Given the description of an element on the screen output the (x, y) to click on. 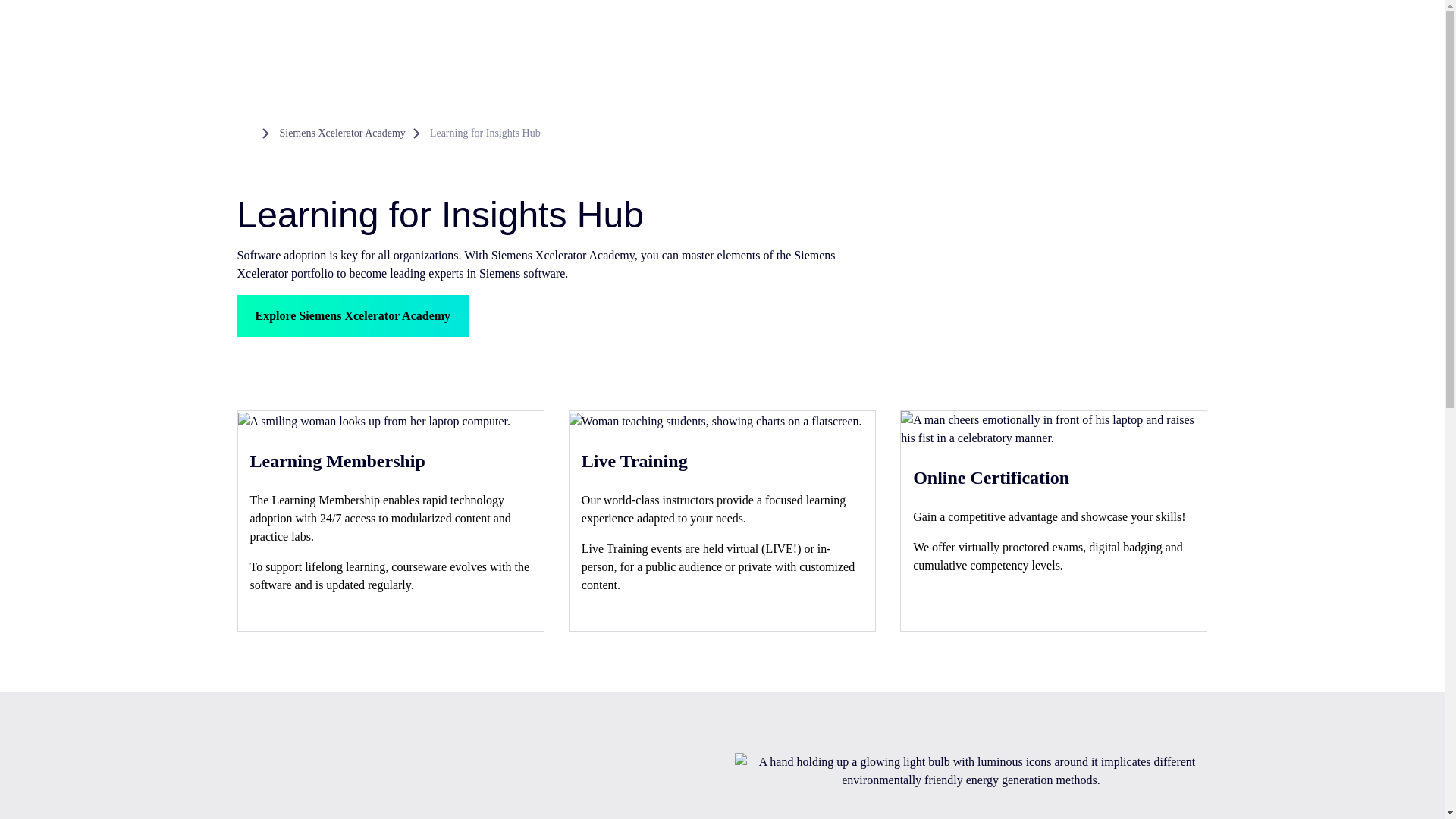
Siemens Xcelerator Academy (341, 133)
Explore Siemens Xcelerator Academy (351, 315)
Home (244, 132)
